Given the description of an element on the screen output the (x, y) to click on. 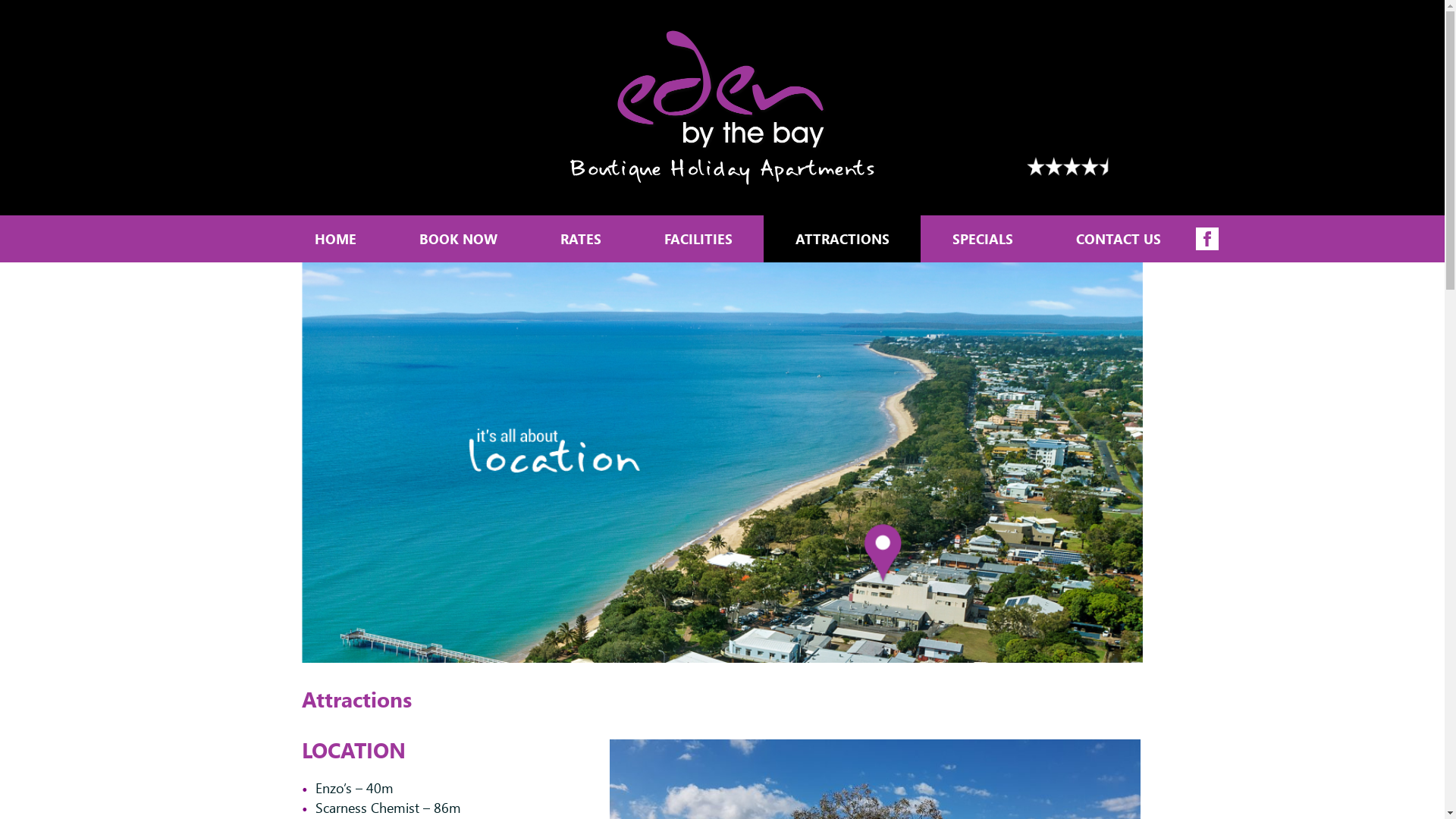
BOOK NOW Element type: text (457, 238)
CONTACT US Element type: text (1118, 238)
SPECIALS Element type: text (982, 238)
RATES Element type: text (580, 238)
HOME Element type: text (334, 238)
FACILITIES Element type: text (697, 238)
ATTRACTIONS Element type: text (841, 238)
